Given the description of an element on the screen output the (x, y) to click on. 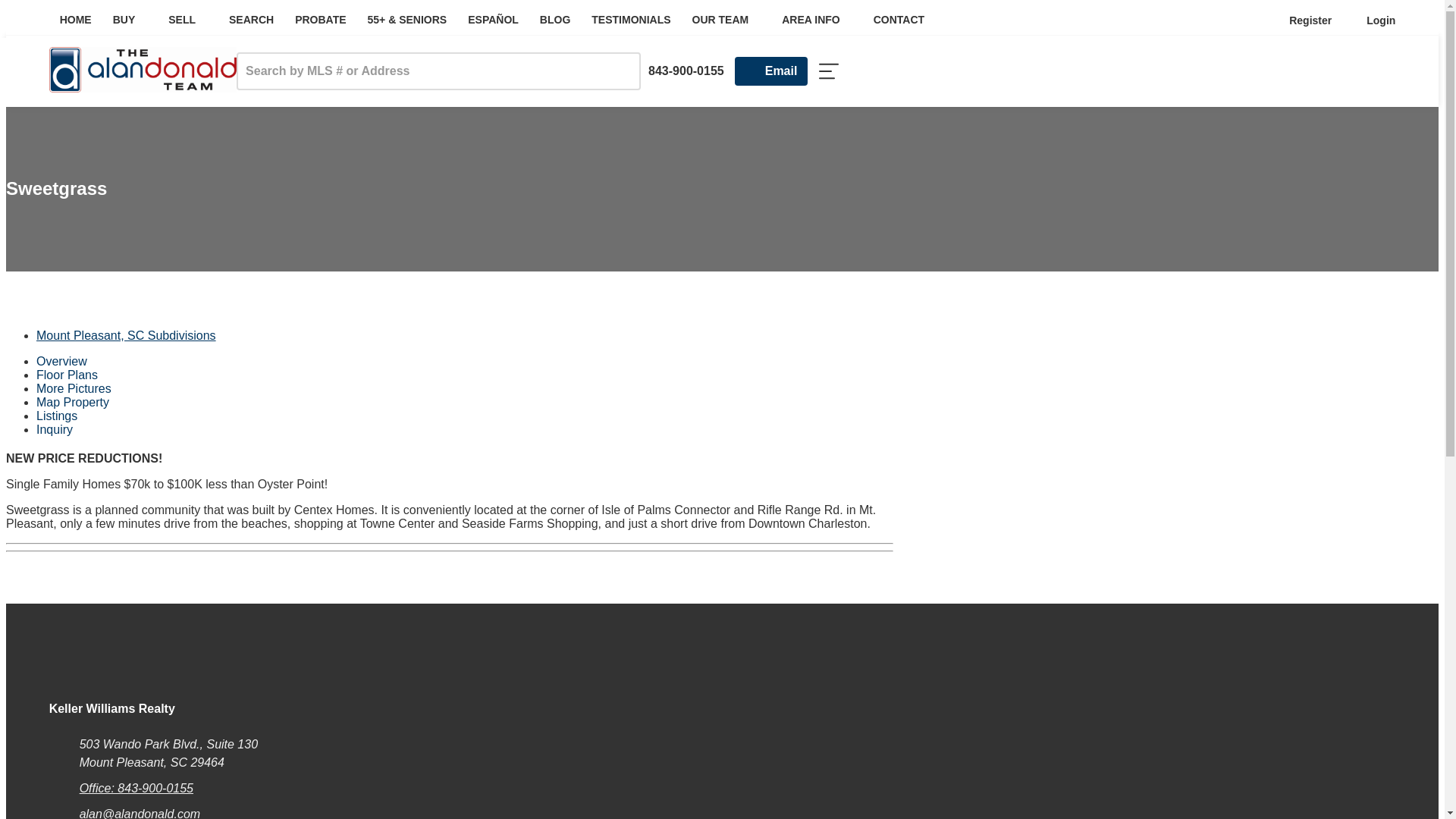
TESTIMONIALS (630, 19)
CONTACT (898, 19)
OUR TEAM (726, 19)
BLOG (554, 19)
HOME (75, 19)
TESTIMONIALS (630, 19)
SELL (187, 19)
SELL (187, 19)
PROBATE (319, 19)
HOME (75, 19)
AREA INFO (816, 19)
BUY (129, 19)
PROBATE (319, 19)
BUY (129, 19)
SEARCH (250, 19)
